Given the description of an element on the screen output the (x, y) to click on. 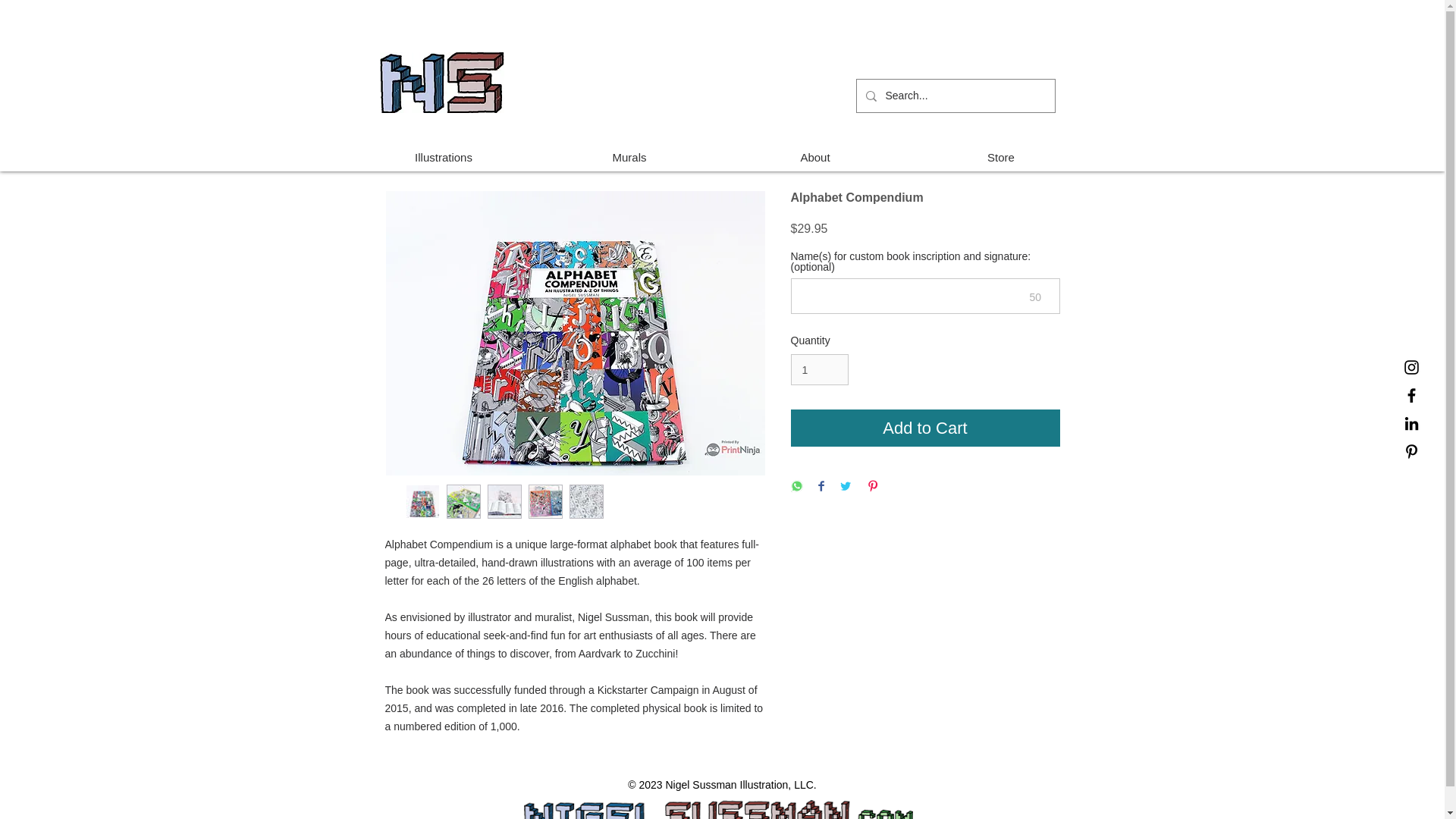
1 (818, 368)
Murals (629, 157)
About (814, 157)
Store (1001, 157)
Add to Cart (924, 427)
Illustrations (442, 157)
